Given the description of an element on the screen output the (x, y) to click on. 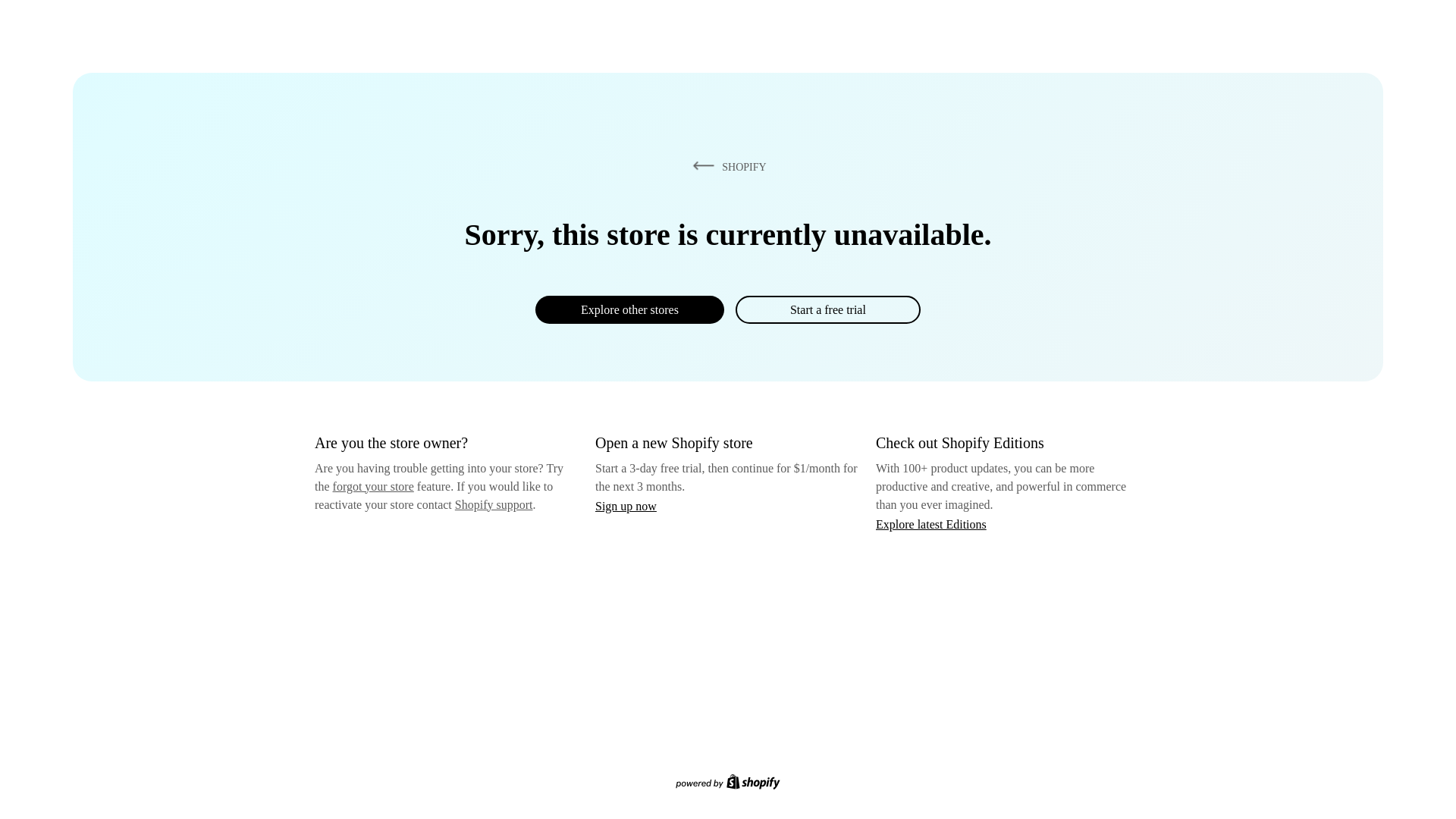
Shopify support (493, 504)
Start a free trial (827, 309)
Explore other stores (629, 309)
Sign up now (625, 505)
forgot your store (373, 486)
SHOPIFY (726, 166)
Explore latest Editions (931, 523)
